Given the description of an element on the screen output the (x, y) to click on. 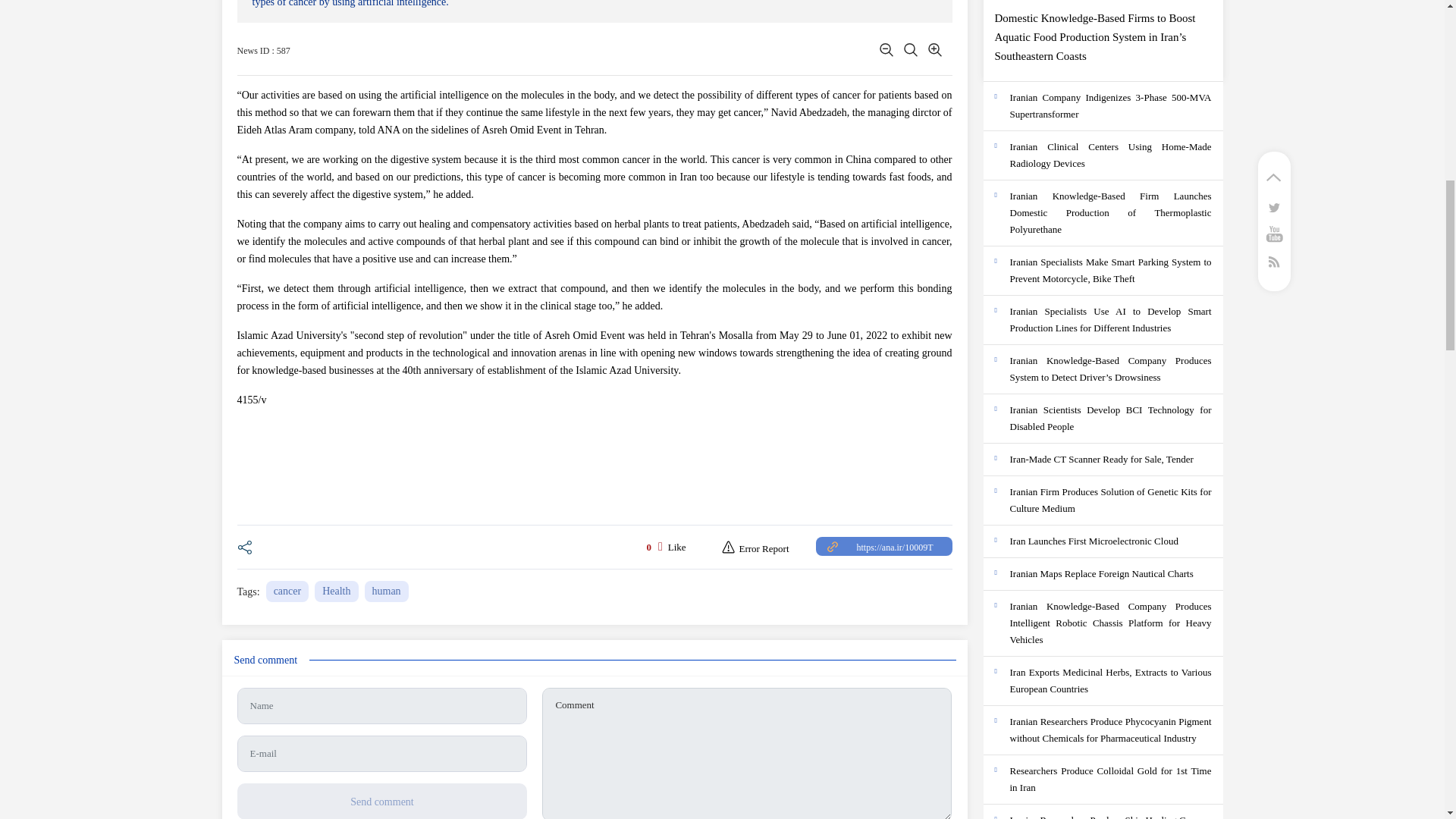
Send comment (381, 800)
like (678, 546)
Error (755, 548)
